Given the description of an element on the screen output the (x, y) to click on. 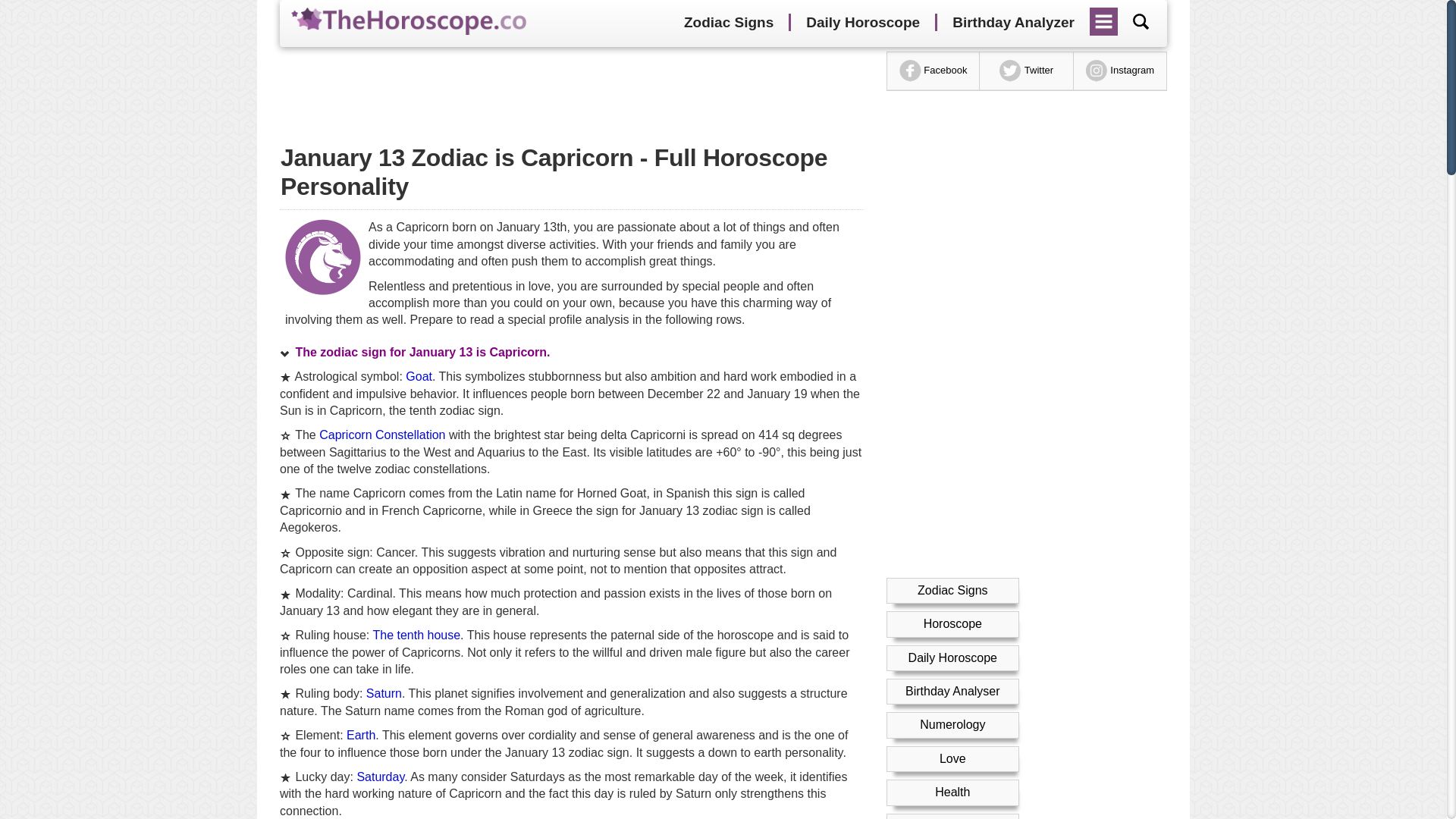
Zodiac Signs (728, 22)
Horoscope (952, 623)
Menu (1104, 16)
Search by your birthday... (1140, 21)
Zodiac Signs (952, 590)
Daily Horoscope (862, 22)
Birthday Analyzer (1013, 22)
